Given the description of an element on the screen output the (x, y) to click on. 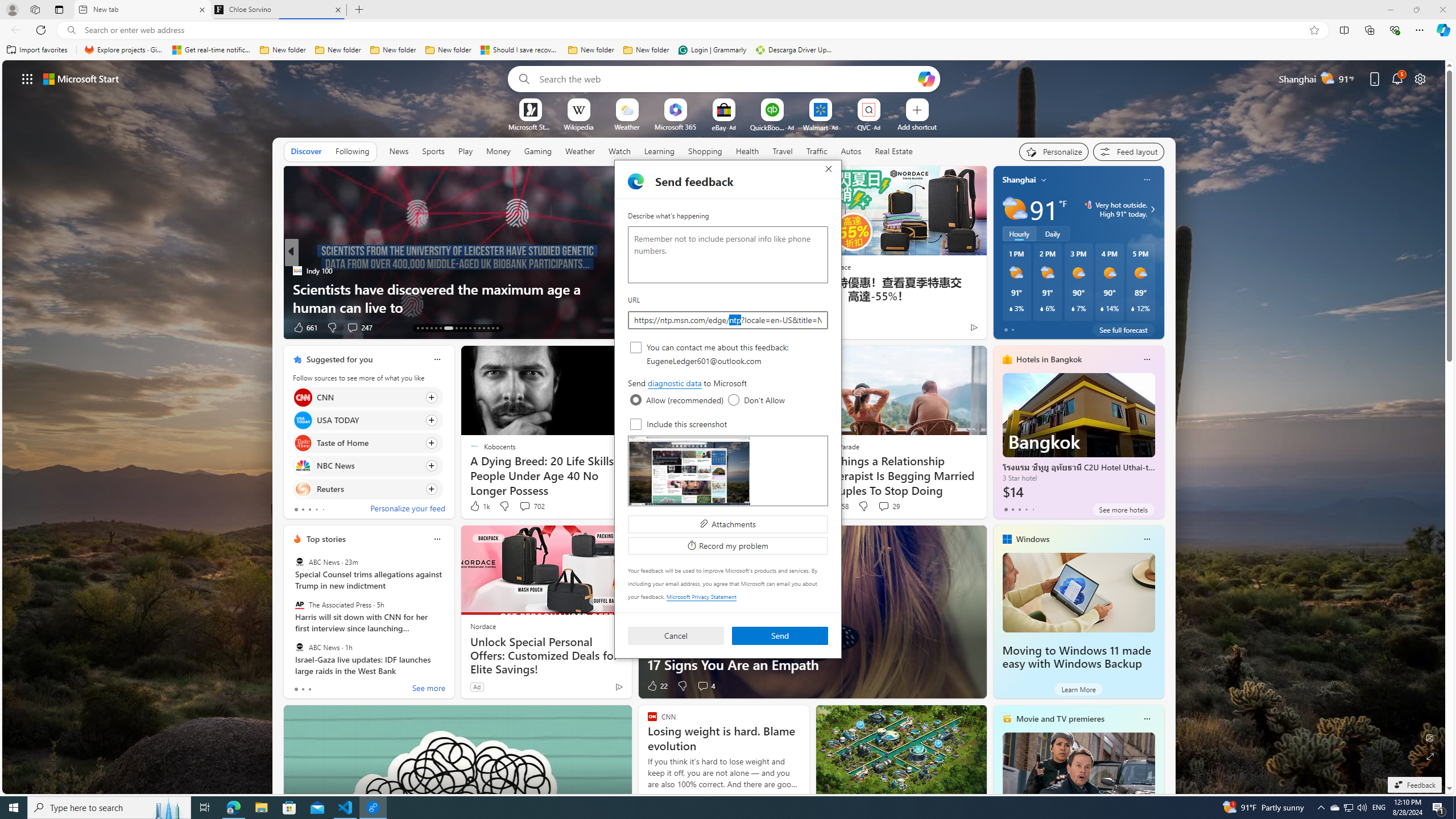
Hourly (1018, 233)
Microsoft Privacy Statement (700, 596)
AutomationID: tab-14 (422, 328)
View comments 702 Comment (523, 505)
CNN (302, 397)
AutomationID: tab-20 (456, 328)
AutomationID: tab-25 (478, 328)
AutomationID: tab-41 (492, 328)
Moving to Windows 11 made easy with Windows Backup (1076, 657)
Click to follow source Reuters (367, 488)
